Given the description of an element on the screen output the (x, y) to click on. 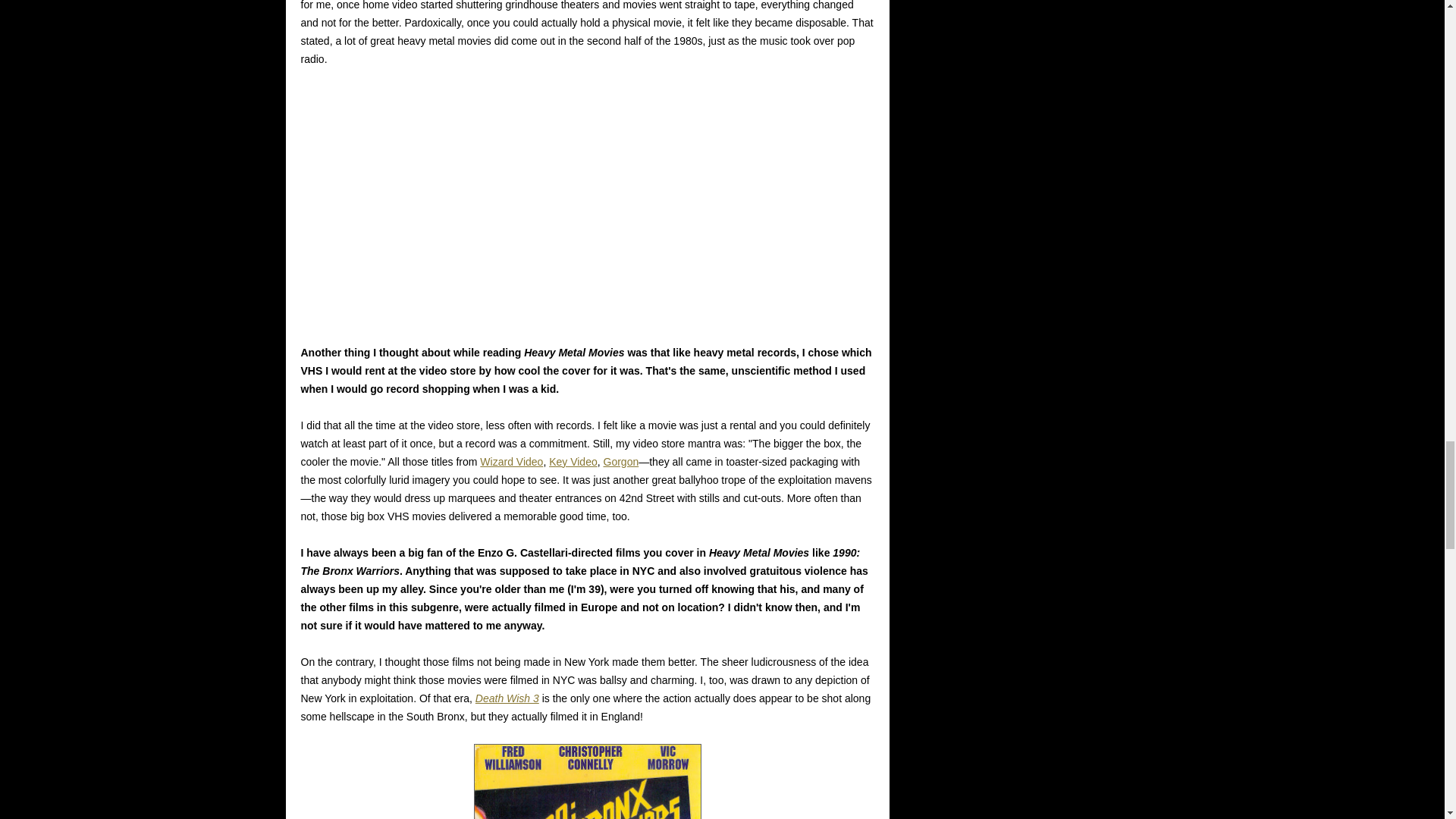
Key Video (572, 461)
Gorgon (621, 461)
Wizard Video (511, 461)
Death Wish 3 (507, 698)
